Given the description of an element on the screen output the (x, y) to click on. 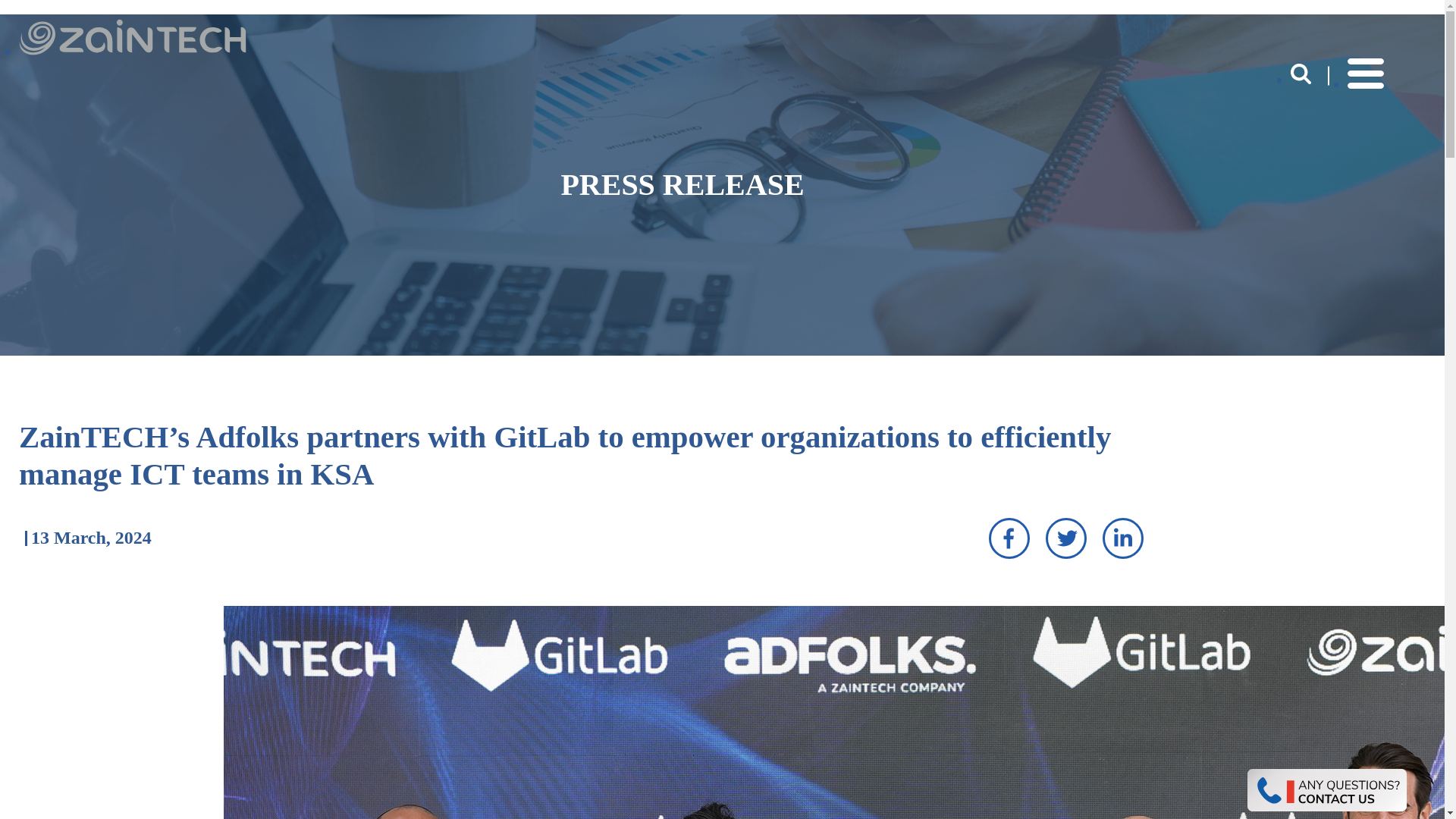
LinkedIn (1122, 537)
Zain (132, 50)
Facebook (1008, 537)
Twitter (1065, 537)
